Given the description of an element on the screen output the (x, y) to click on. 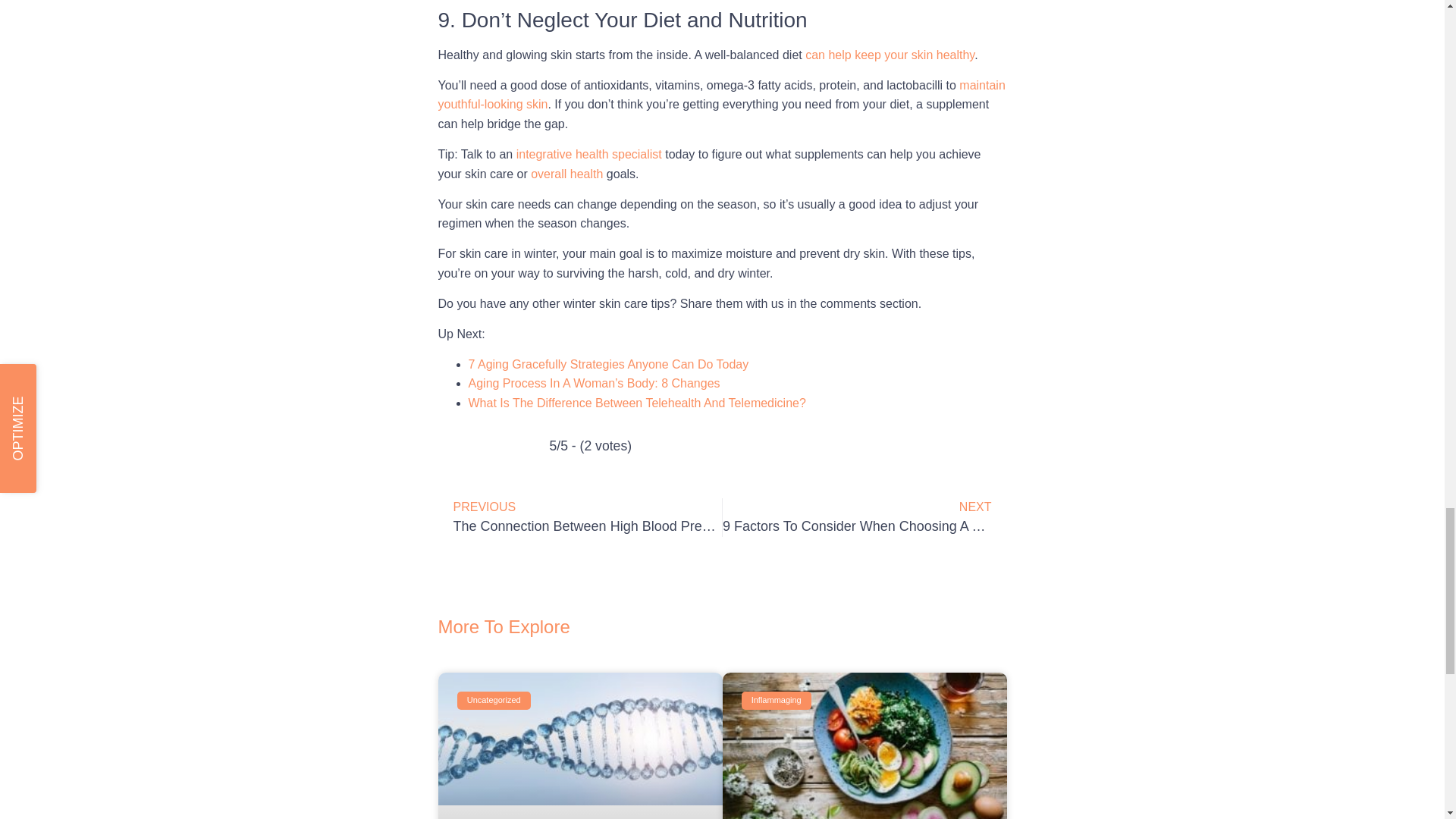
overall health (566, 173)
integrative health specialist (589, 154)
can help keep your skin healthy (889, 54)
7 Aging Gracefully Strategies Anyone Can Do Today (608, 364)
maintain youthful-looking skin (722, 94)
